Given the description of an element on the screen output the (x, y) to click on. 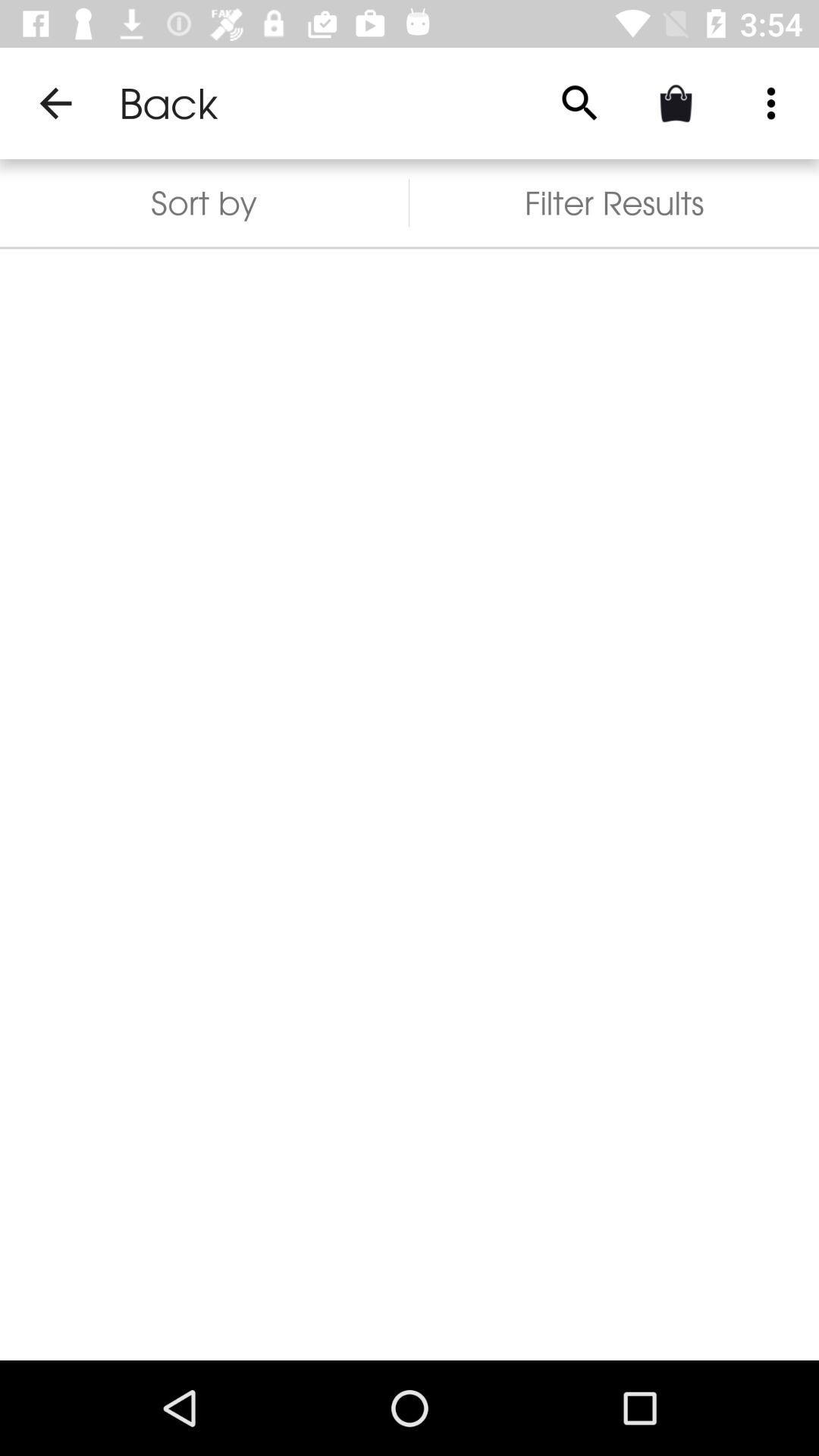
launch the icon next to sort by (579, 103)
